Given the description of an element on the screen output the (x, y) to click on. 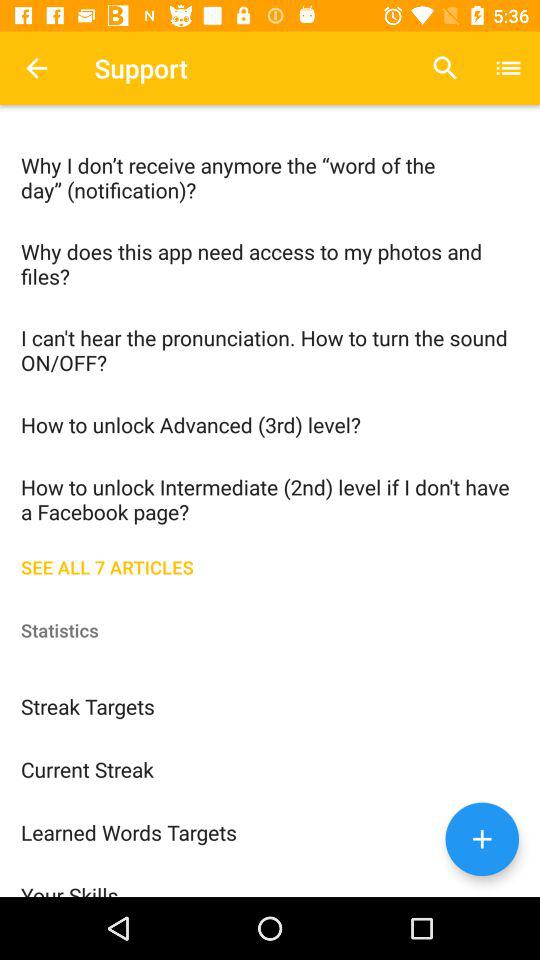
launch item above learned words targets (270, 768)
